Given the description of an element on the screen output the (x, y) to click on. 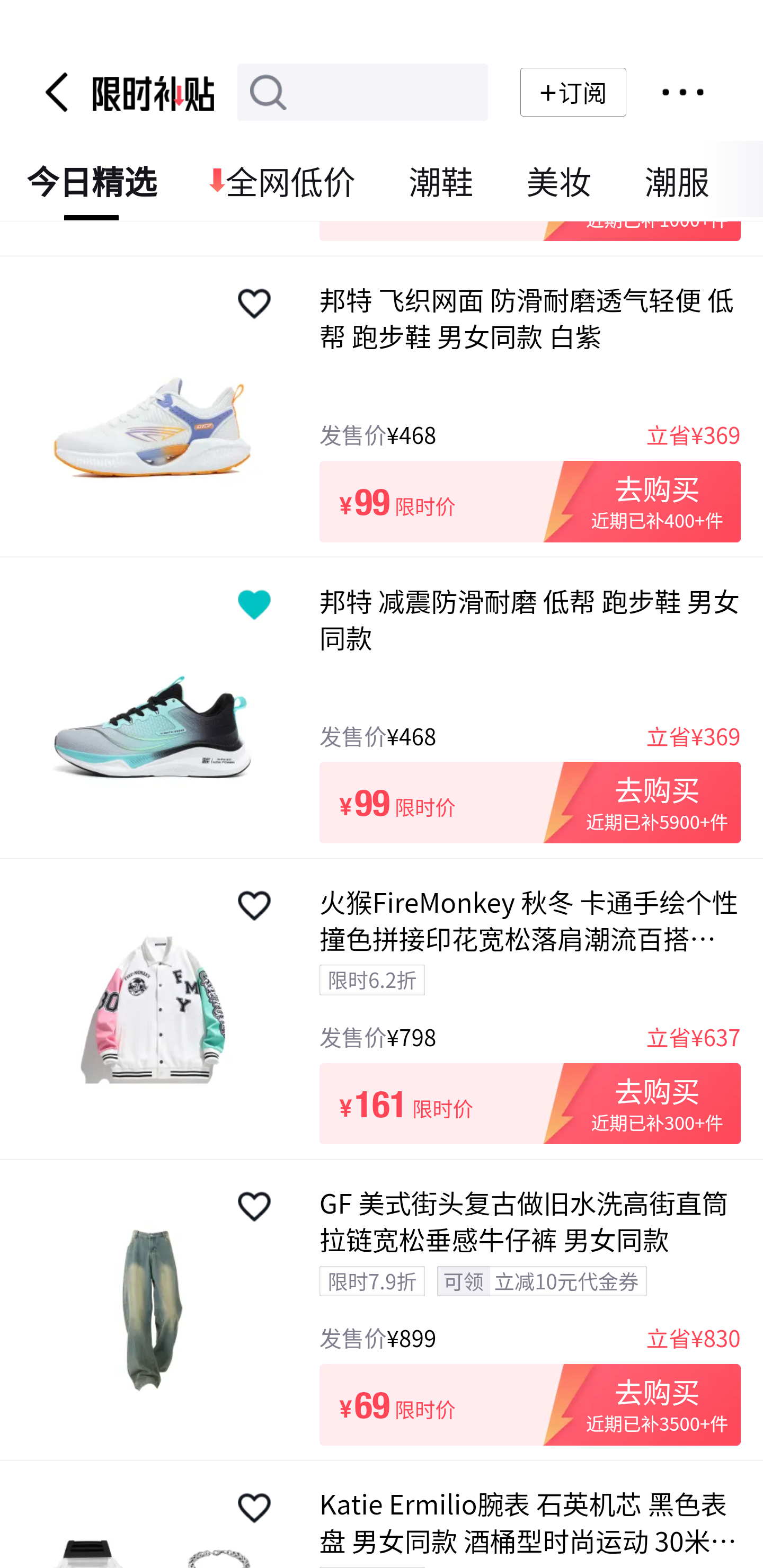
+订阅 (572, 92)
resize,w_60 (254, 304)
resize,w_60 (254, 605)
resize,w_60 (254, 906)
resize,w_60 (254, 1207)
resize,w_60 (254, 1508)
